Given the description of an element on the screen output the (x, y) to click on. 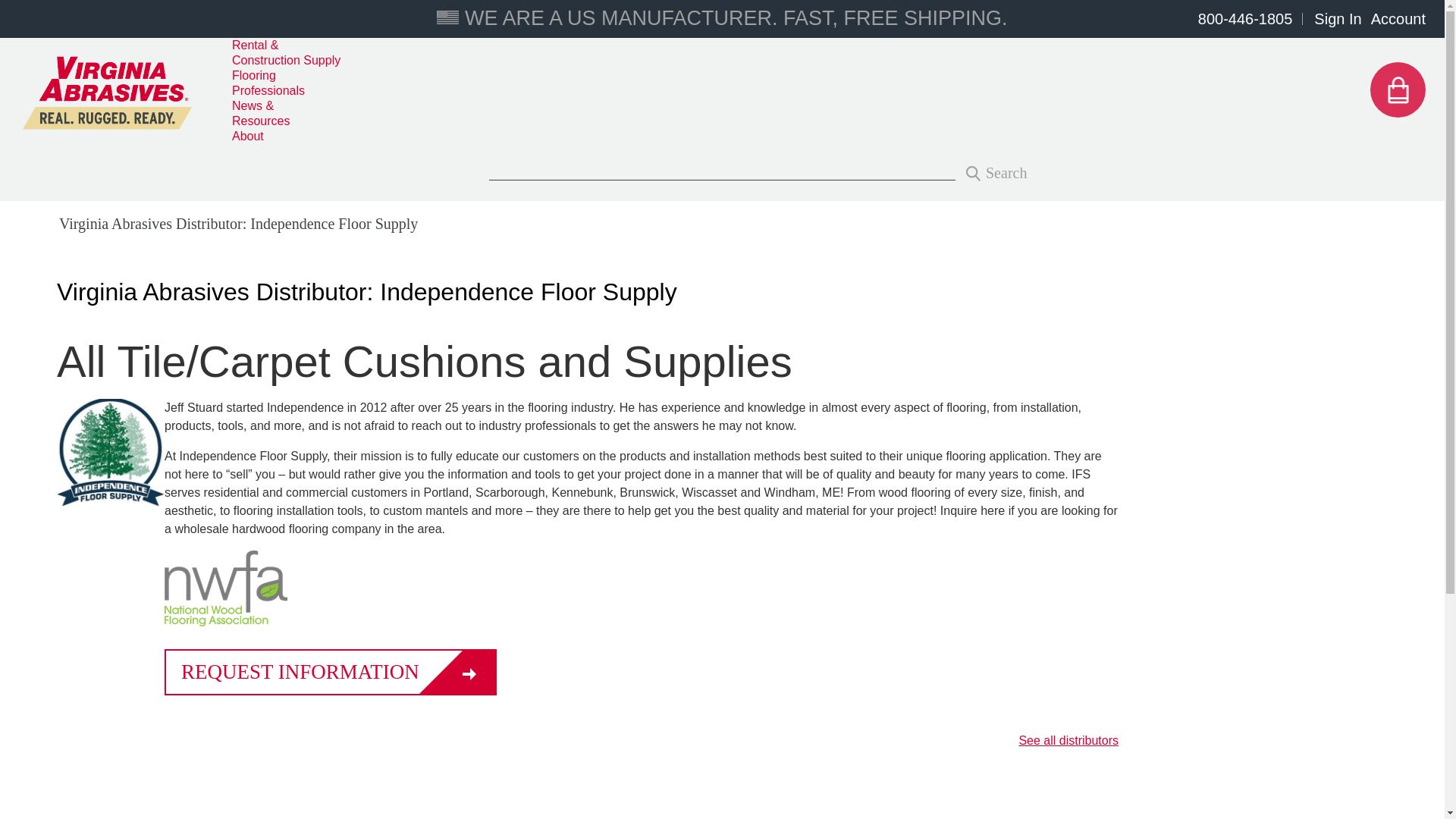
Sign In (1337, 18)
800-446-1805 (1245, 18)
Account (1398, 18)
